Given the description of an element on the screen output the (x, y) to click on. 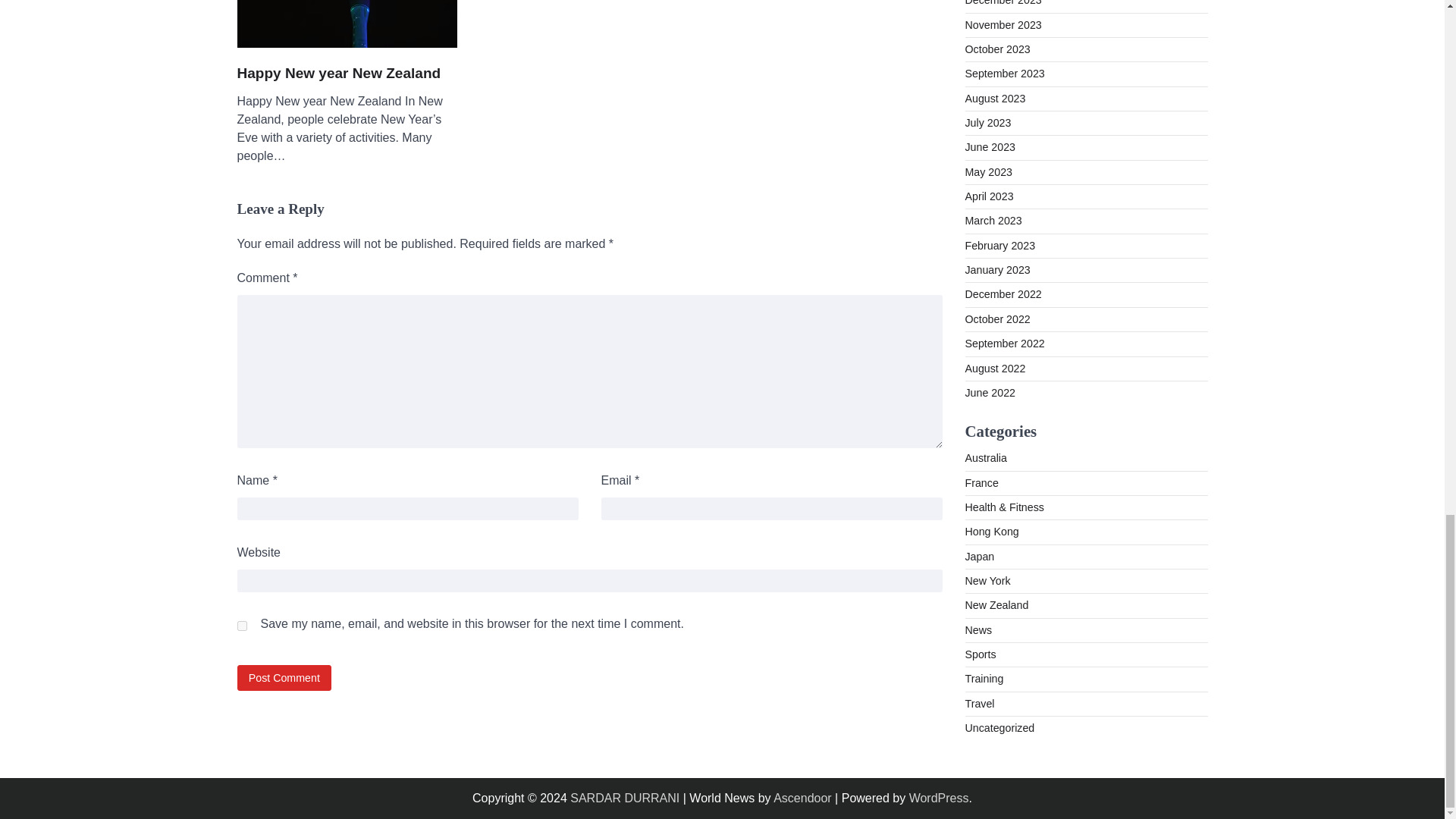
yes (240, 625)
Post Comment (283, 677)
Post Comment (283, 677)
Happy New year New Zealand (338, 74)
